Given the description of an element on the screen output the (x, y) to click on. 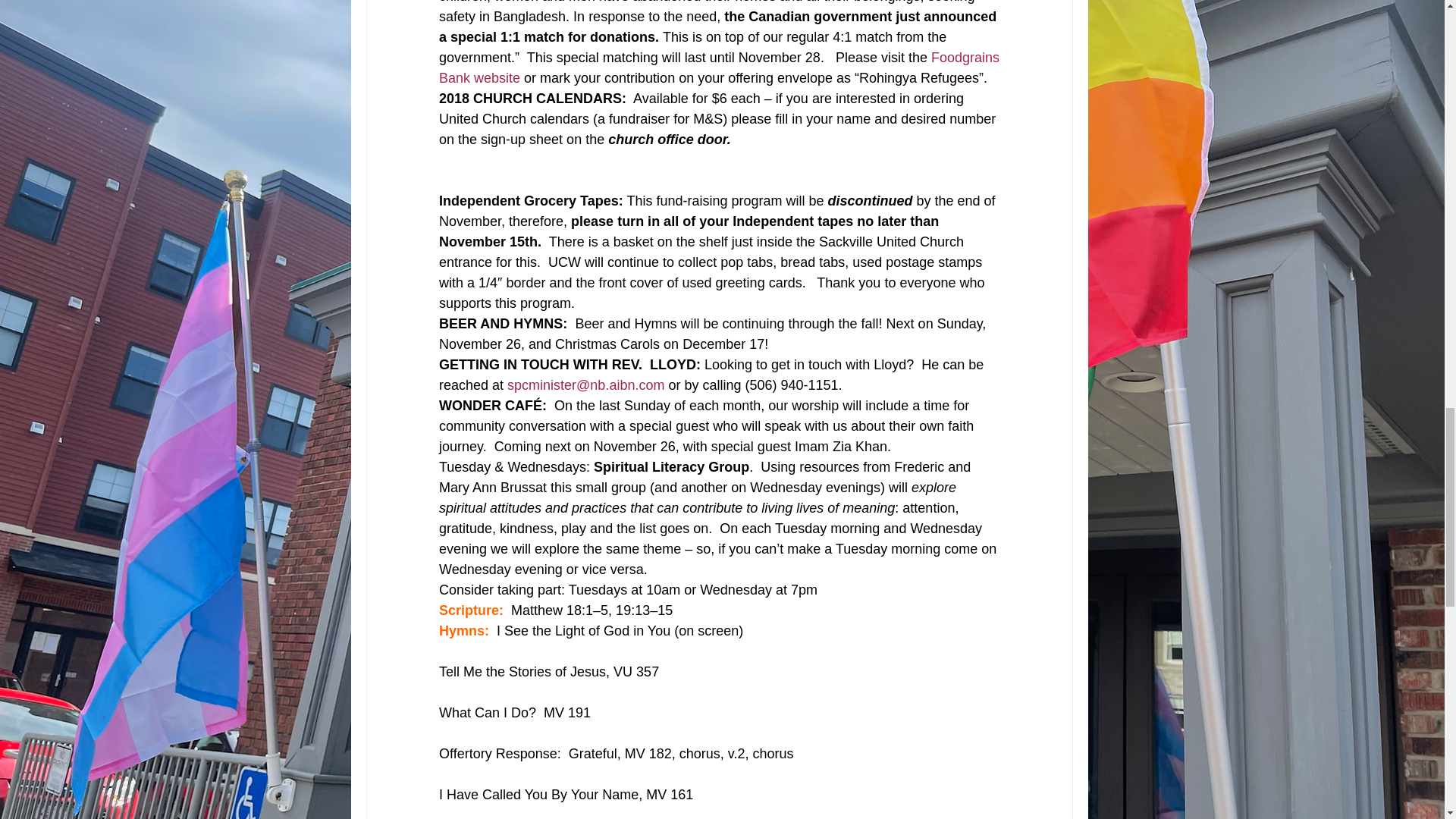
Foodgrains Bank website (720, 67)
